Given the description of an element on the screen output the (x, y) to click on. 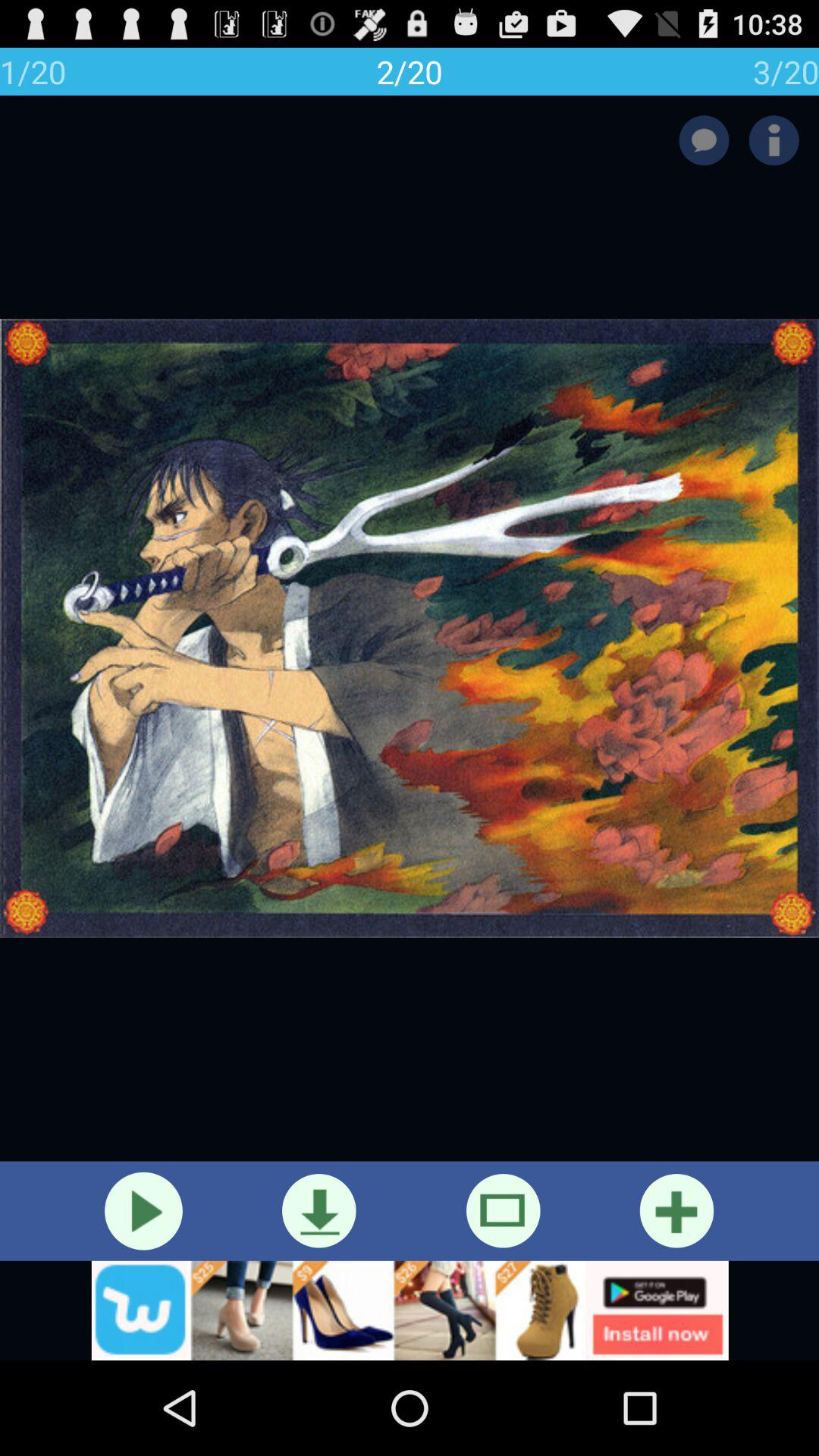
play the video (143, 1211)
